Given the description of an element on the screen output the (x, y) to click on. 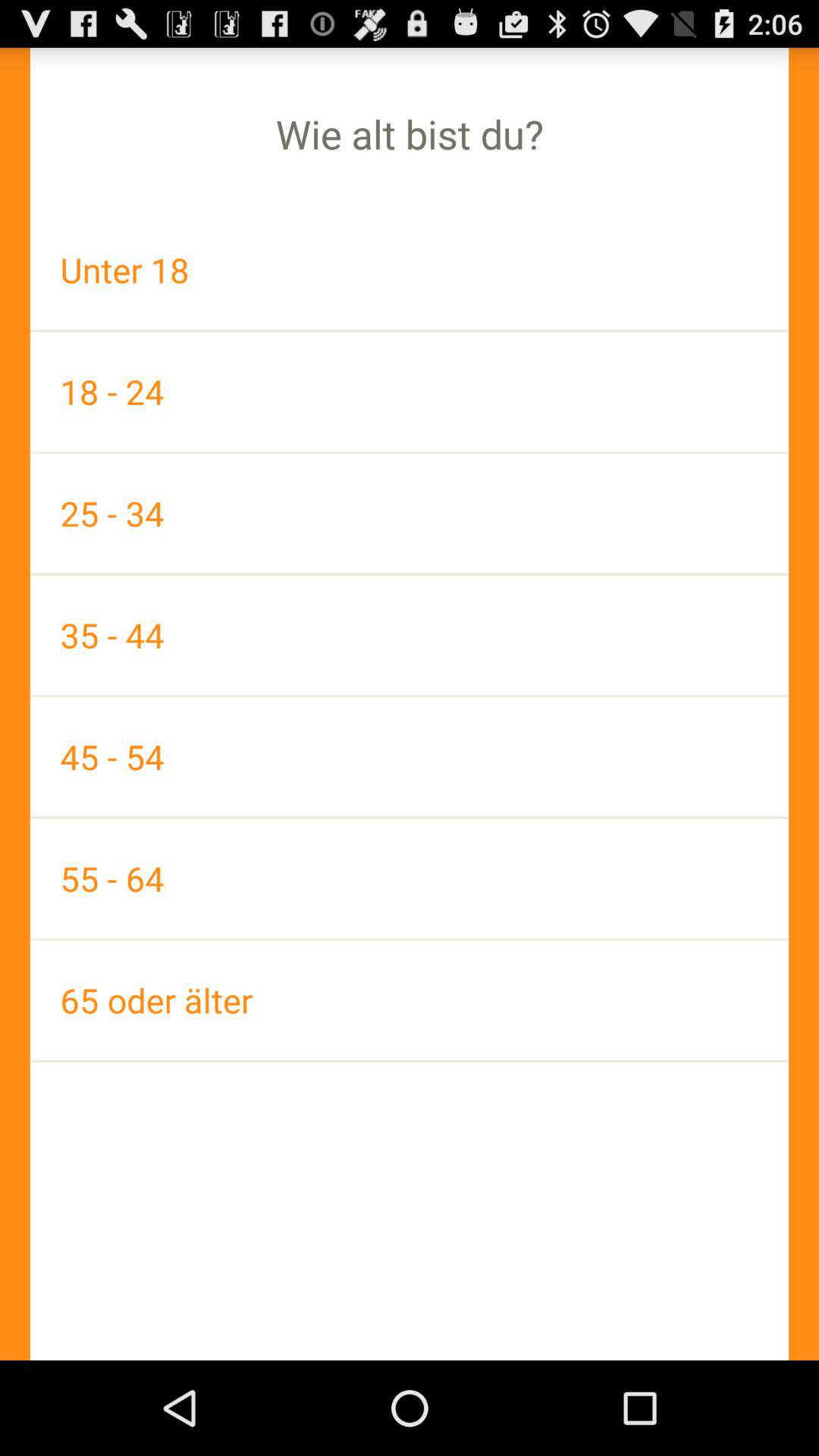
choose the 45 - 54 (409, 756)
